Given the description of an element on the screen output the (x, y) to click on. 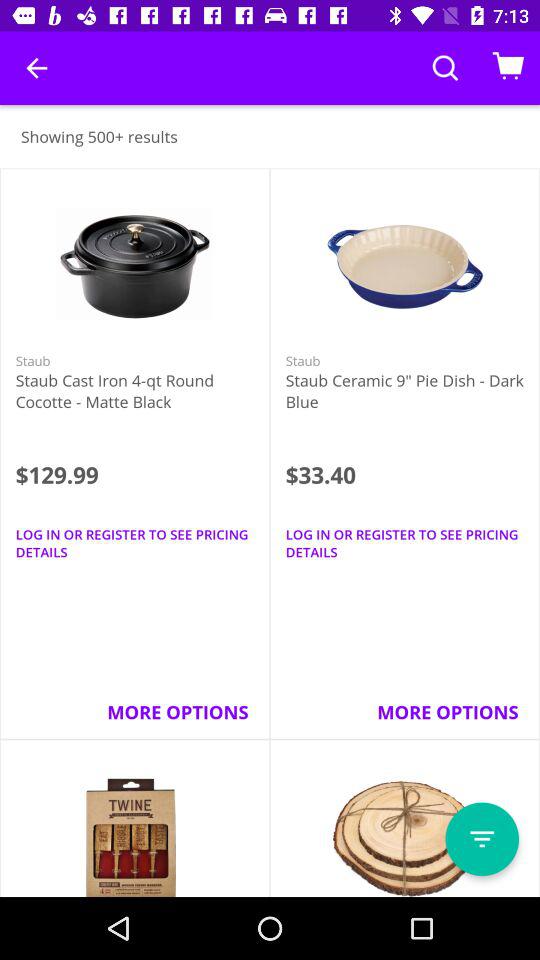
tap filter option (482, 839)
